Given the description of an element on the screen output the (x, y) to click on. 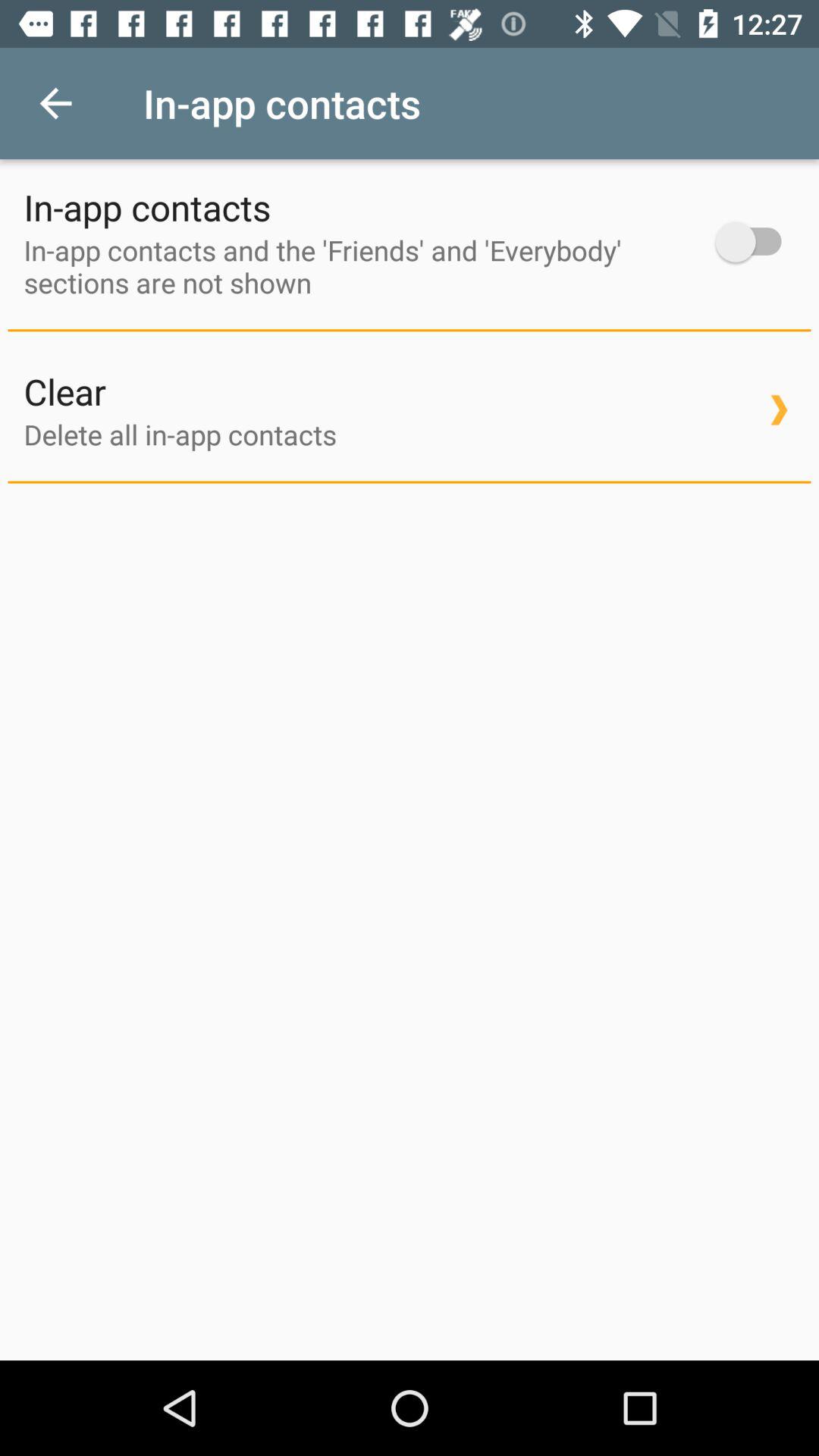
press the item above in-app contacts (55, 103)
